Given the description of an element on the screen output the (x, y) to click on. 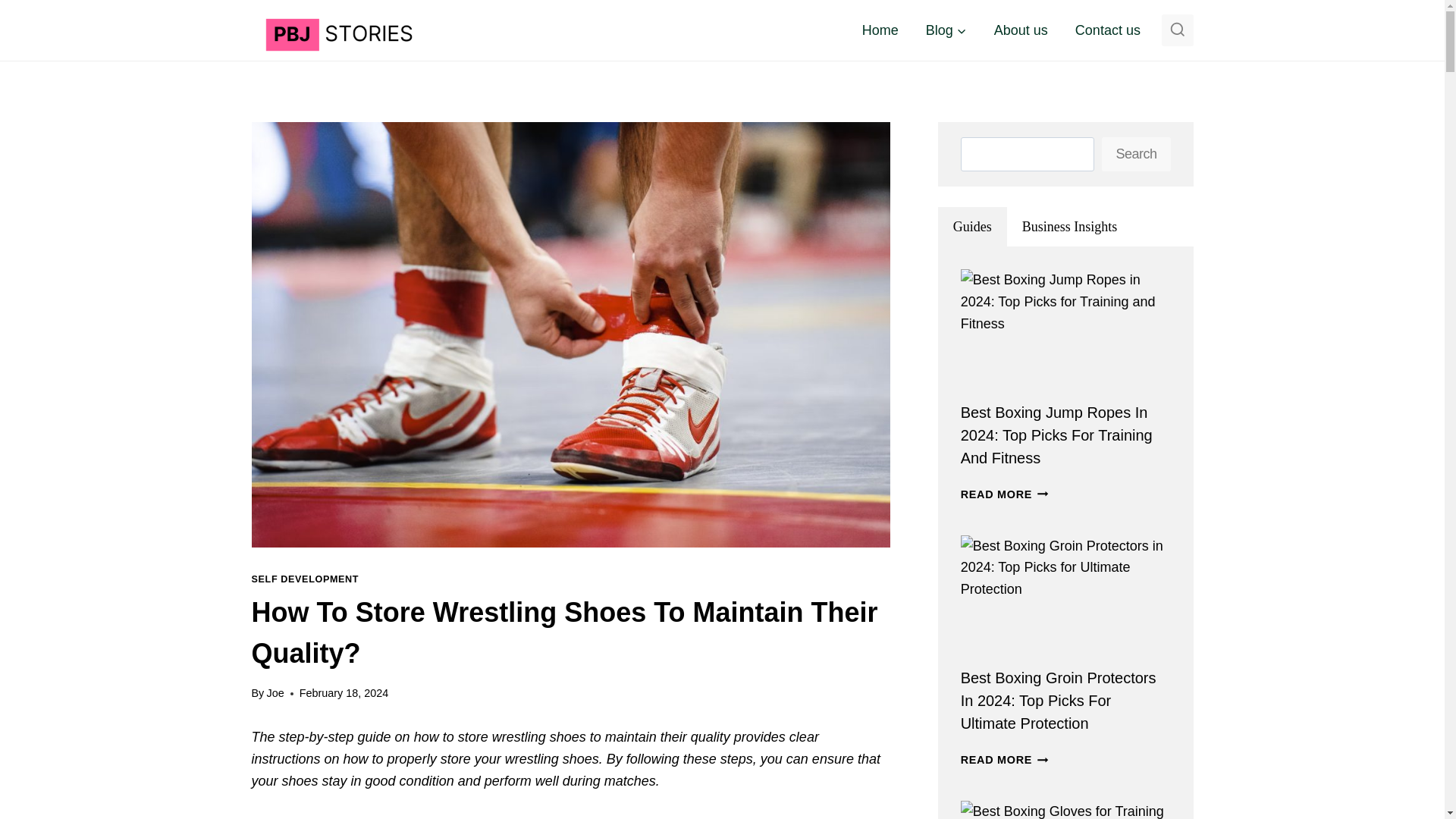
Joe (274, 693)
Home (880, 30)
Blog (945, 30)
SELF DEVELOPMENT (305, 579)
Contact us (1107, 30)
About us (1020, 30)
